Given the description of an element on the screen output the (x, y) to click on. 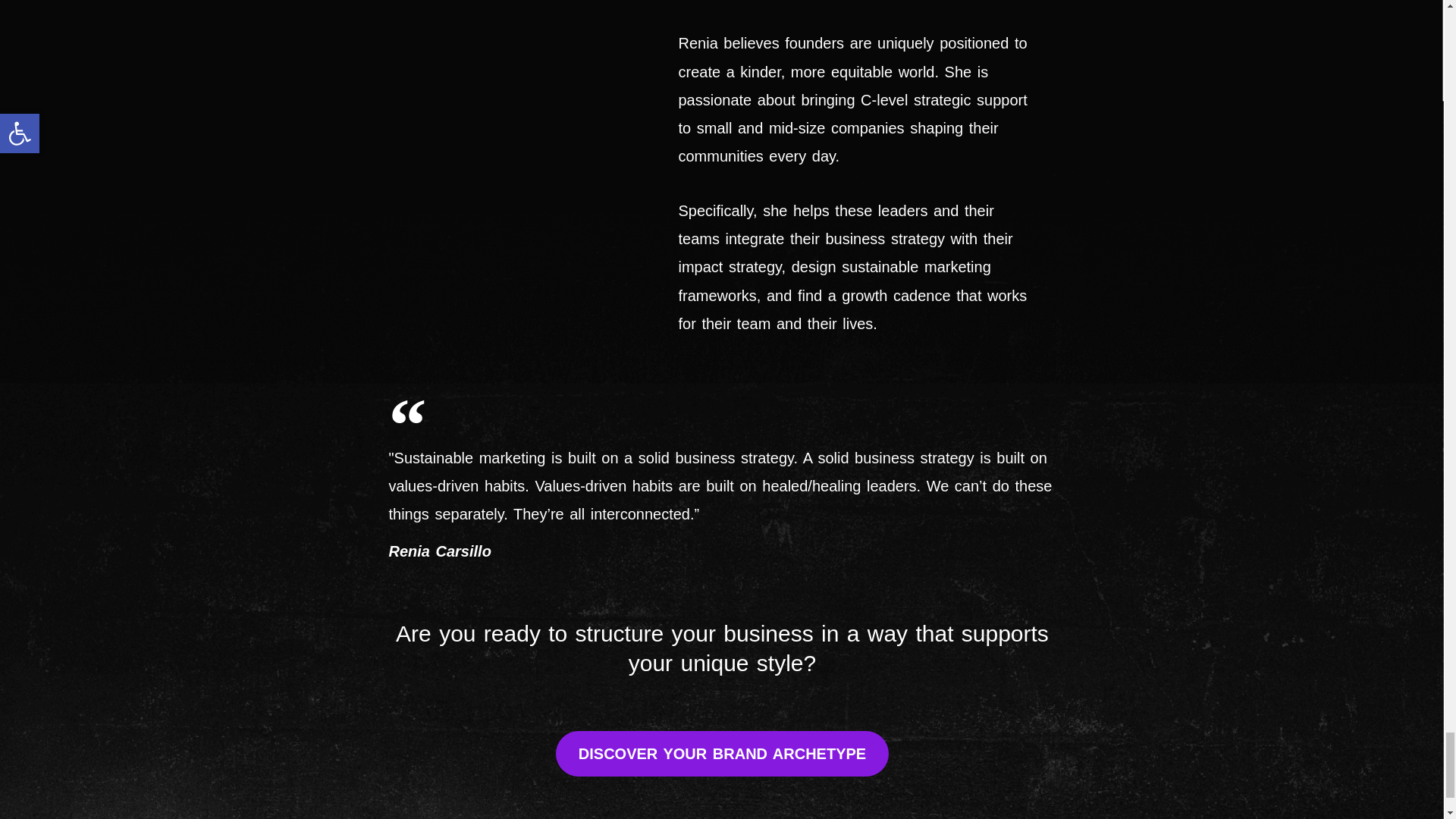
DISCOVER YOUR BRAND ARCHETYPE (722, 753)
